Given the description of an element on the screen output the (x, y) to click on. 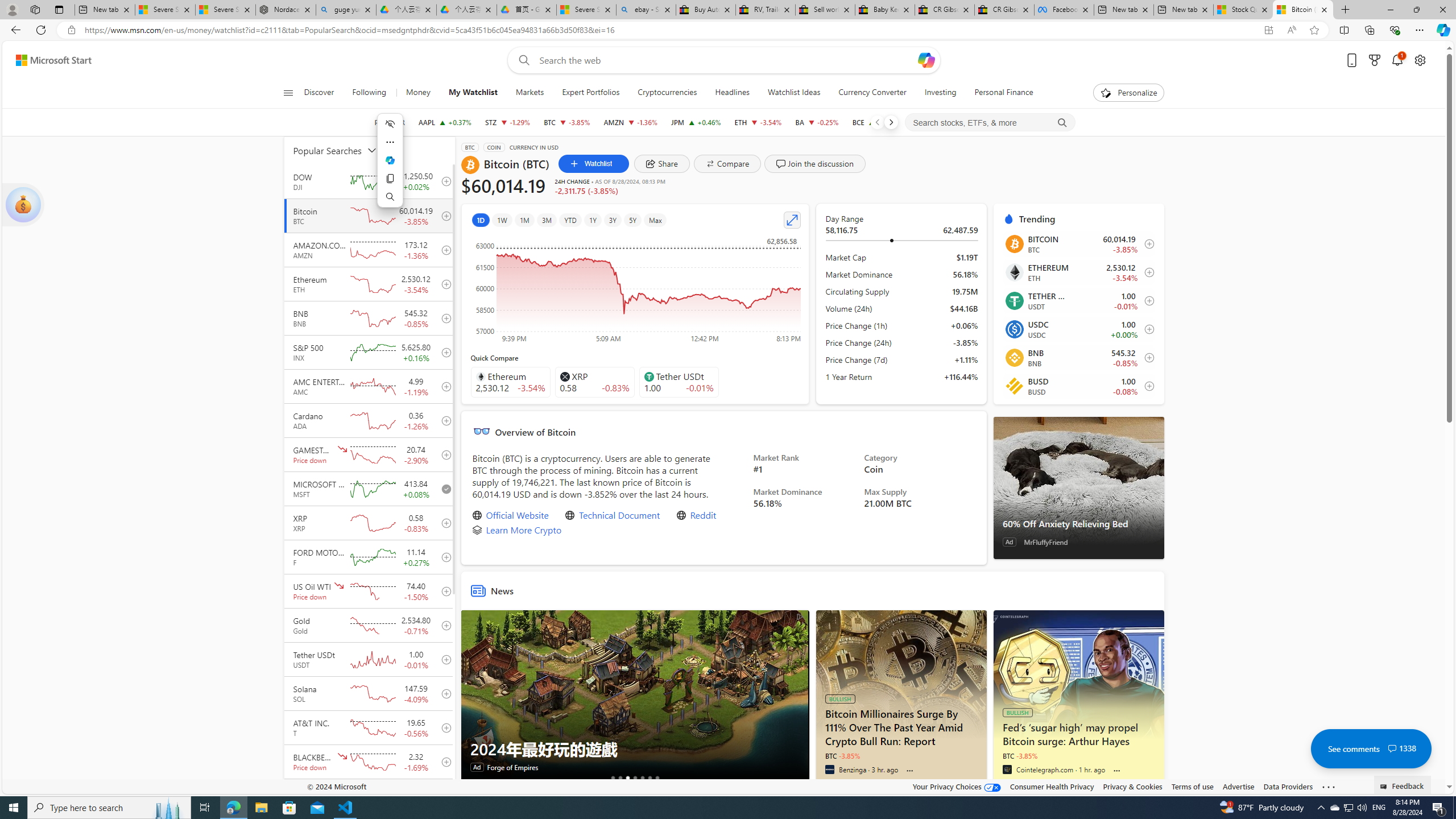
Investing (940, 92)
Watchlist Ideas (793, 92)
Personalize (1128, 92)
Your Privacy Choices (956, 786)
Advertise (1238, 786)
Open navigation menu (287, 92)
Data Providers (1288, 785)
Terms of use (1192, 786)
